Given the description of an element on the screen output the (x, y) to click on. 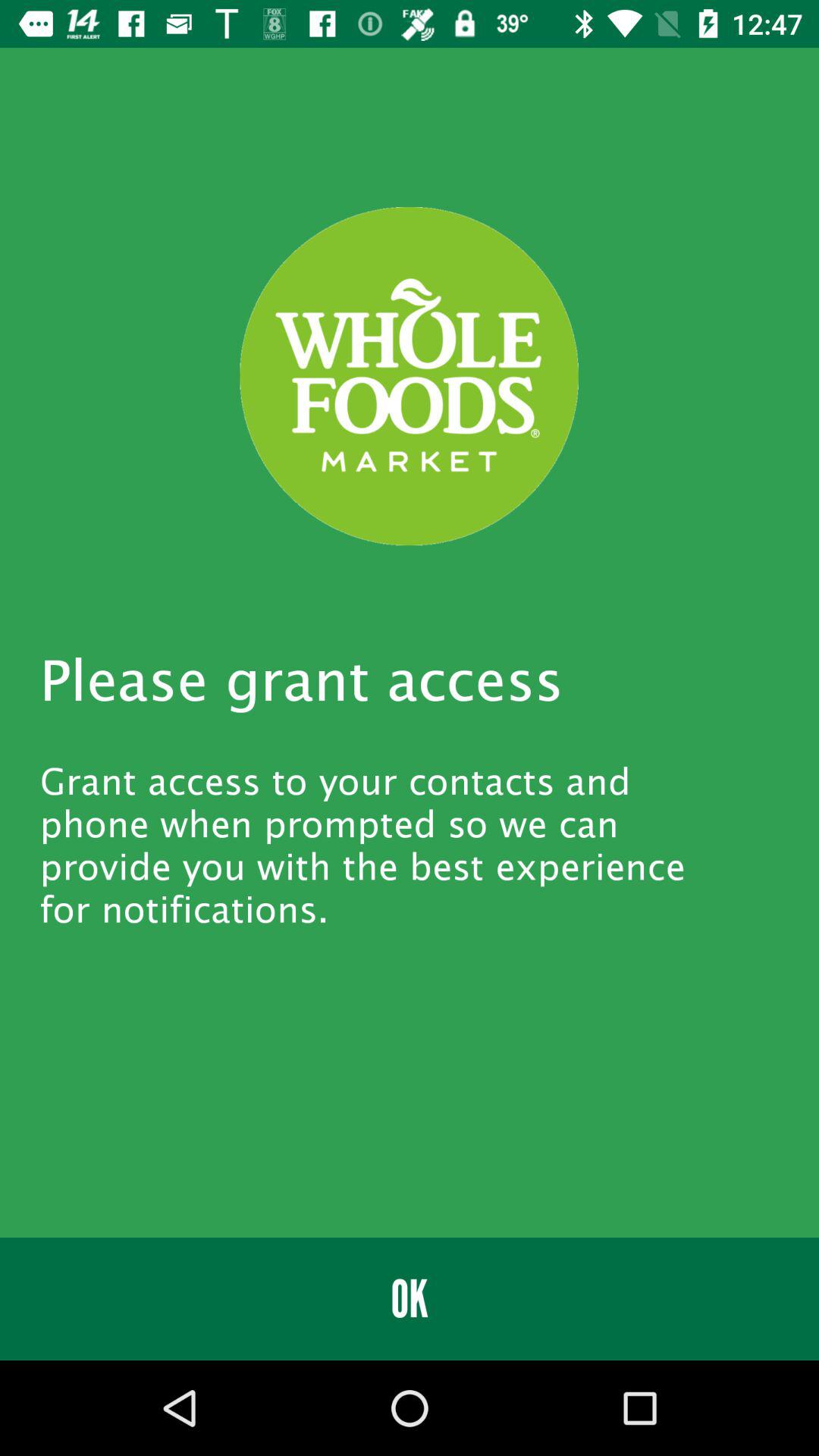
click the item below the grant access to (409, 1298)
